Given the description of an element on the screen output the (x, y) to click on. 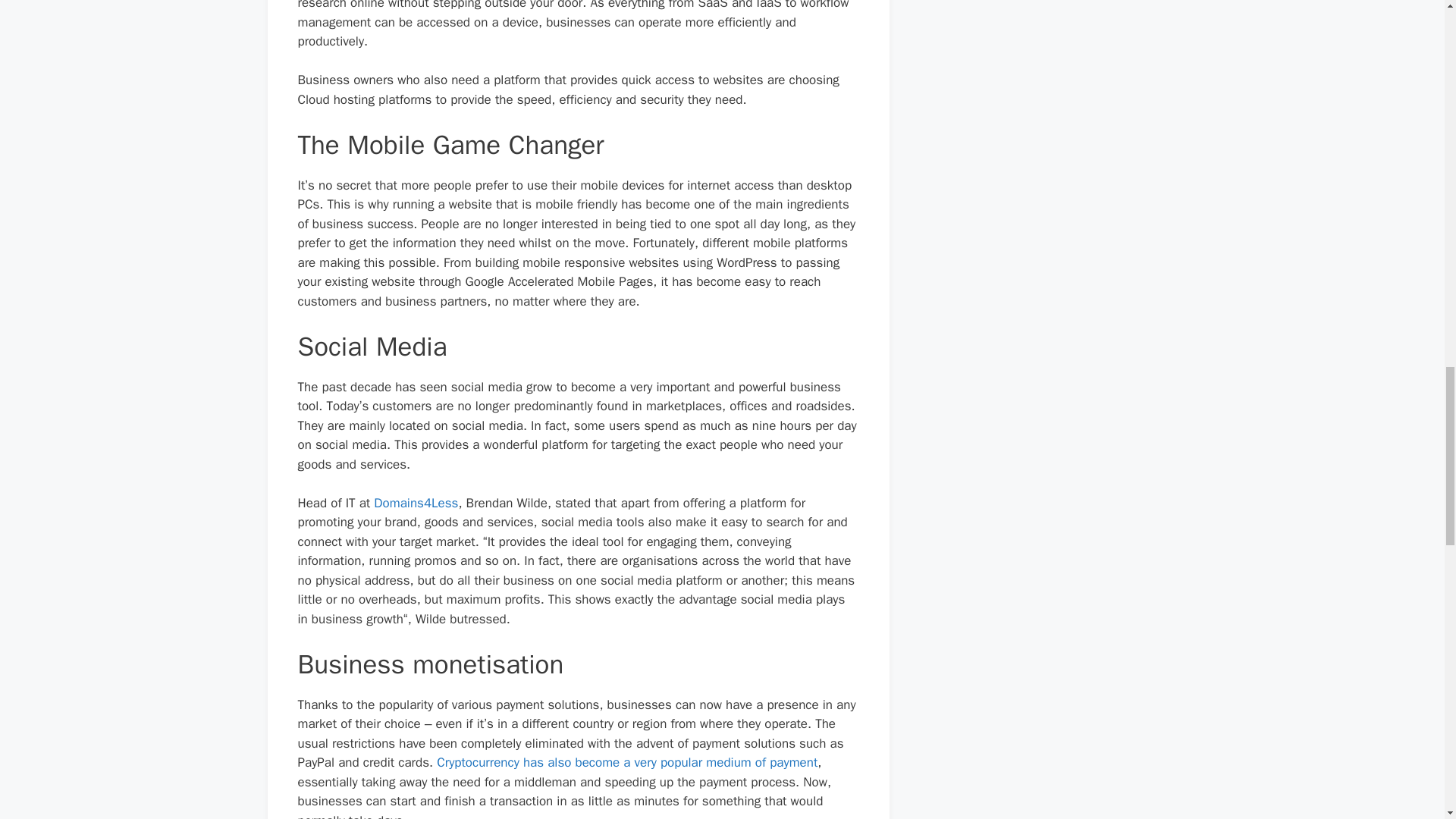
Domains4Less (416, 503)
